Given the description of an element on the screen output the (x, y) to click on. 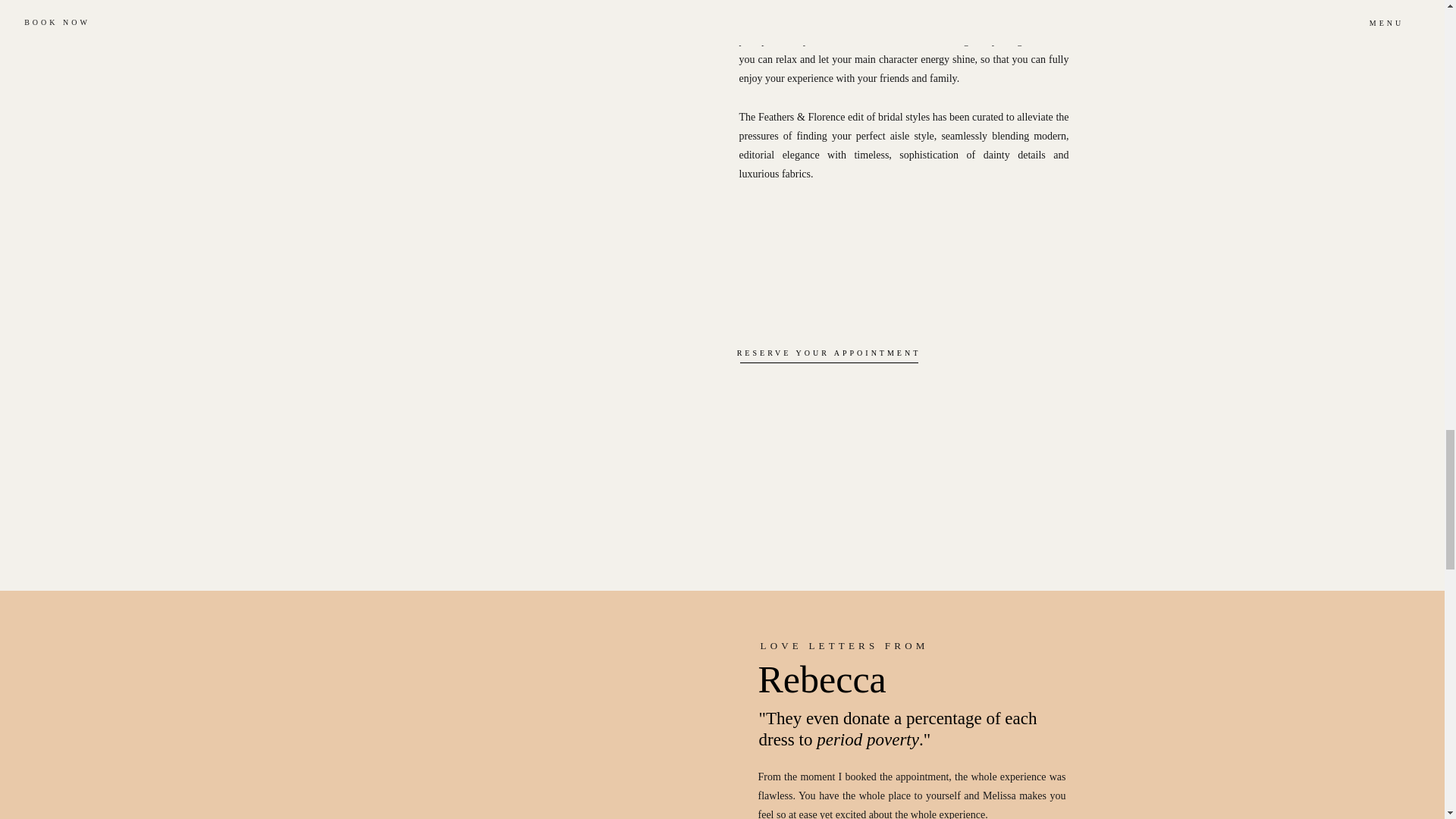
RESERVE YOUR APPOINTMENT (828, 350)
